Given the description of an element on the screen output the (x, y) to click on. 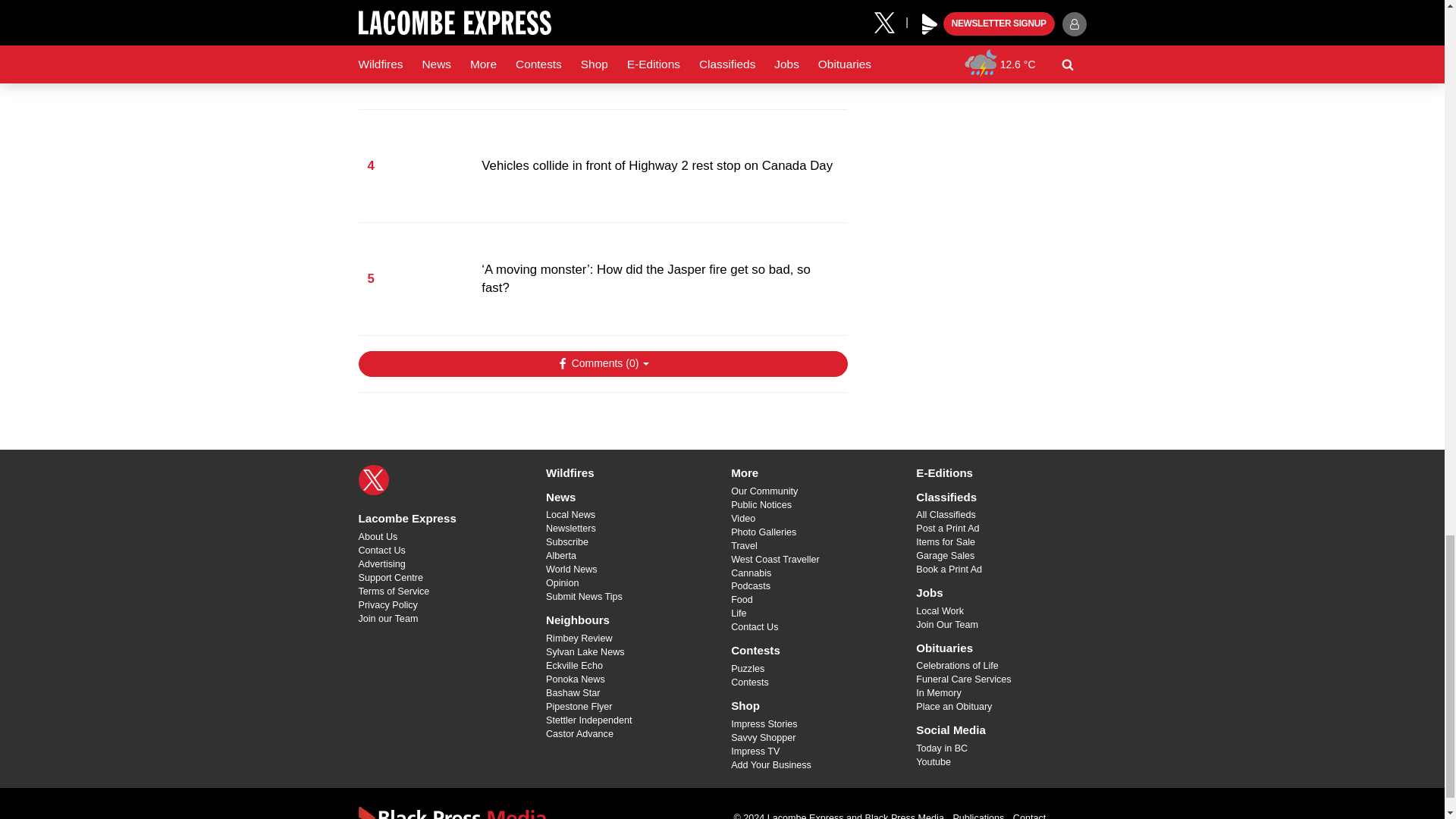
Show Comments (602, 363)
X (373, 480)
